Given the description of an element on the screen output the (x, y) to click on. 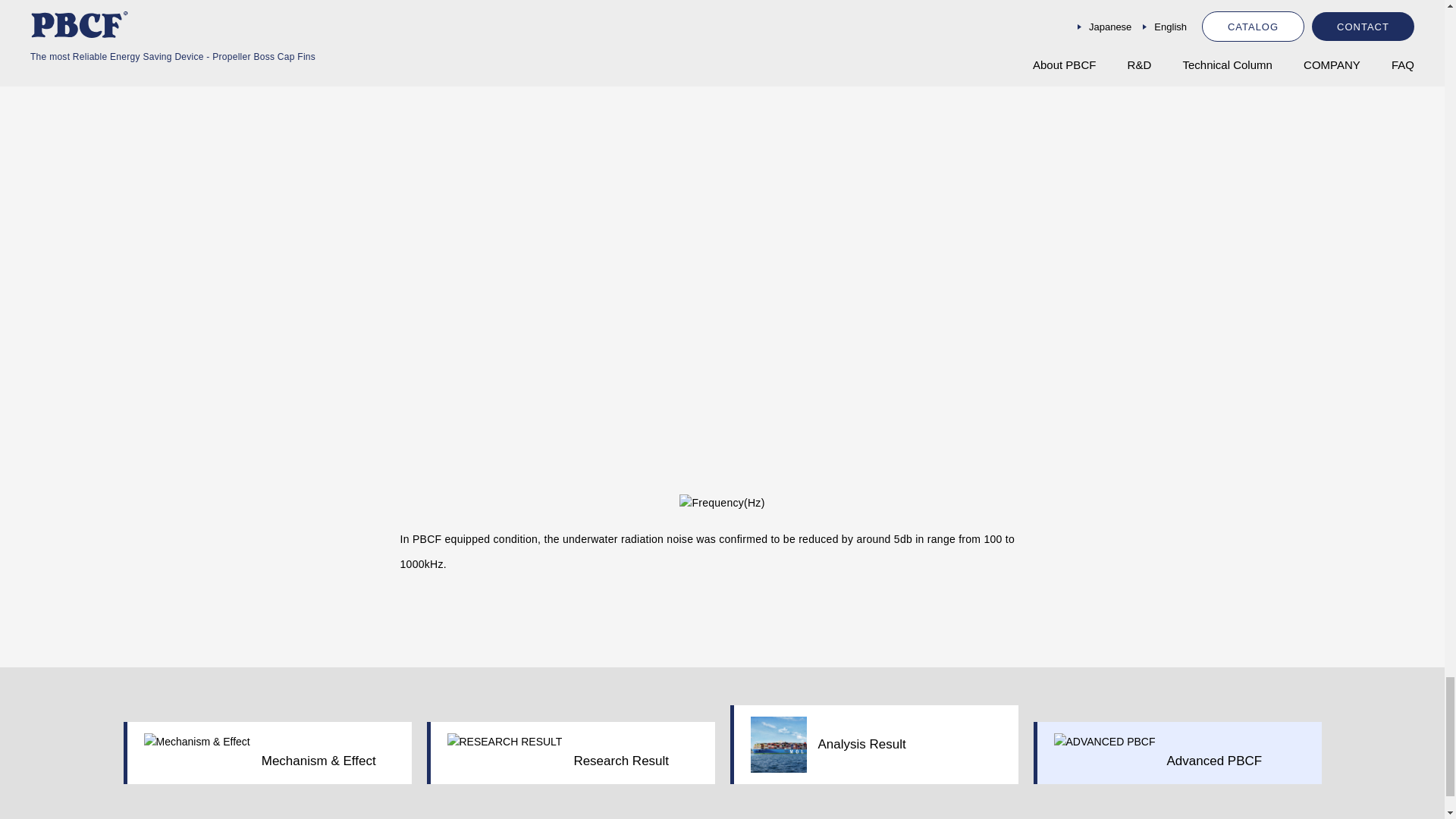
Research Result (570, 752)
Analysis Result (873, 744)
Advanced PBCF (1176, 752)
